Given the description of an element on the screen output the (x, y) to click on. 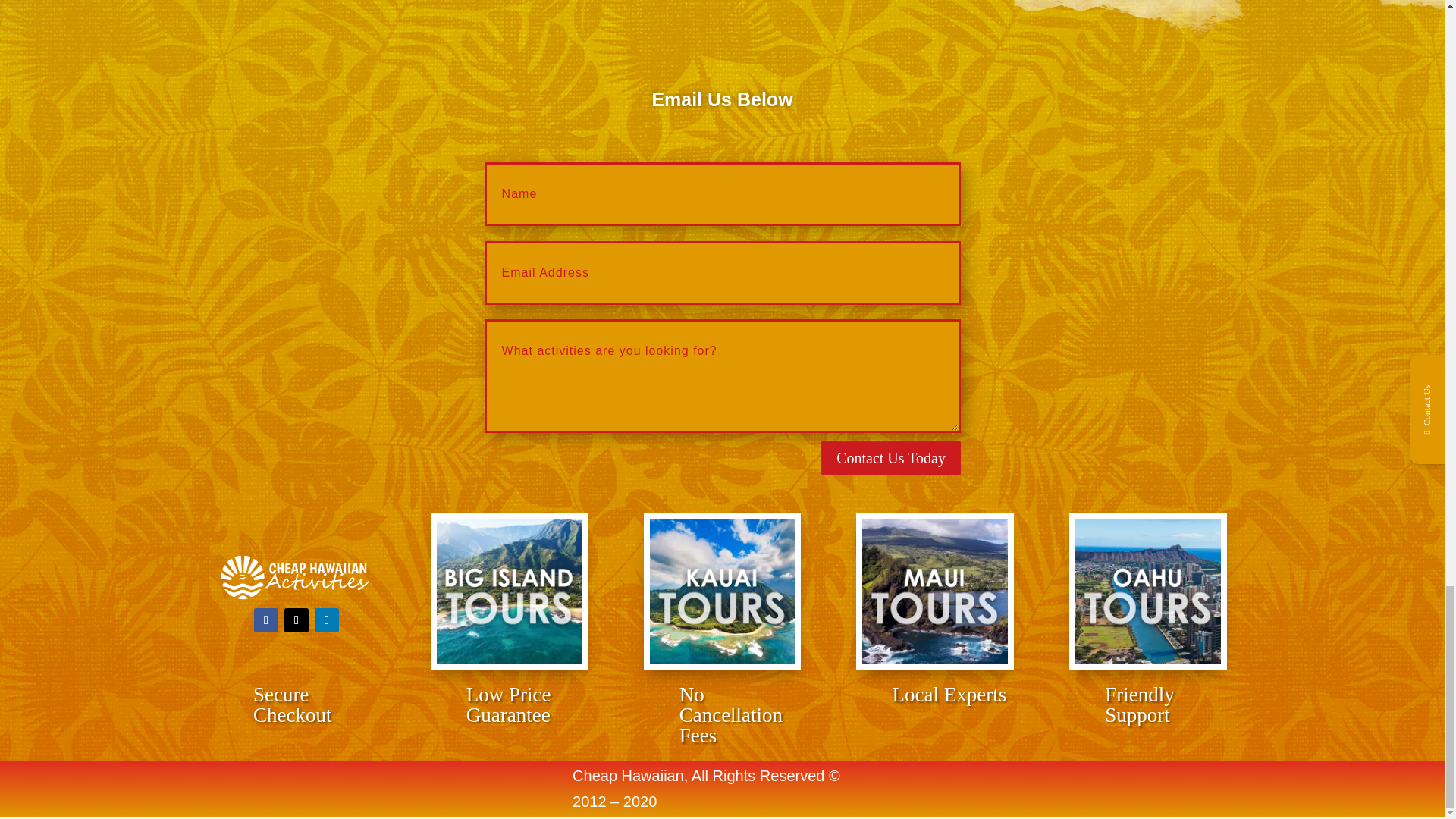
Follow on LinkedIn (326, 620)
Follow on X (295, 620)
Follow on Facebook (265, 620)
